Given the description of an element on the screen output the (x, y) to click on. 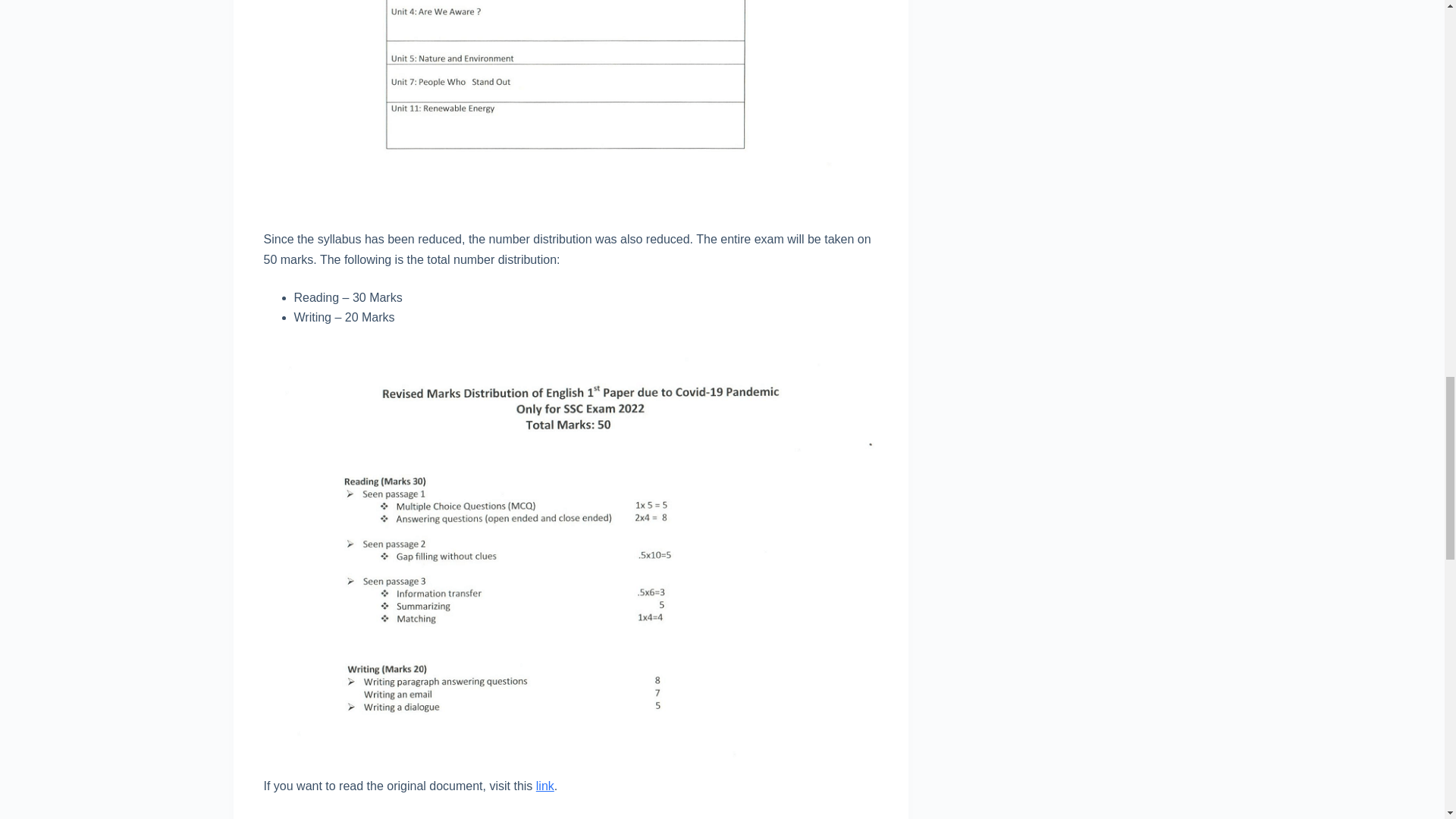
link (544, 785)
